Given the description of an element on the screen output the (x, y) to click on. 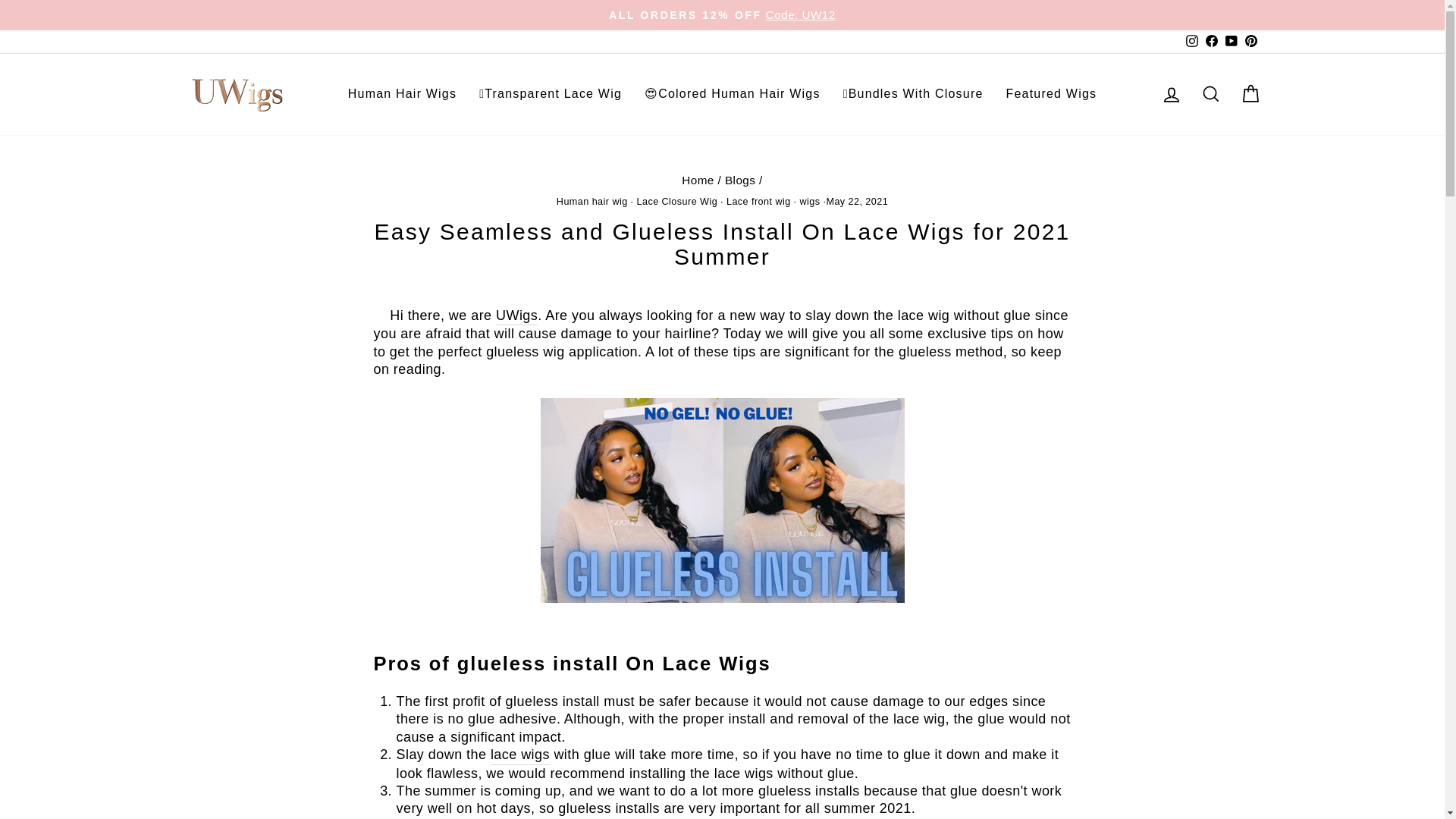
UWigs lace wigs (520, 755)
Back to the frontpage (697, 179)
UWigs Official Site (516, 316)
